Given the description of an element on the screen output the (x, y) to click on. 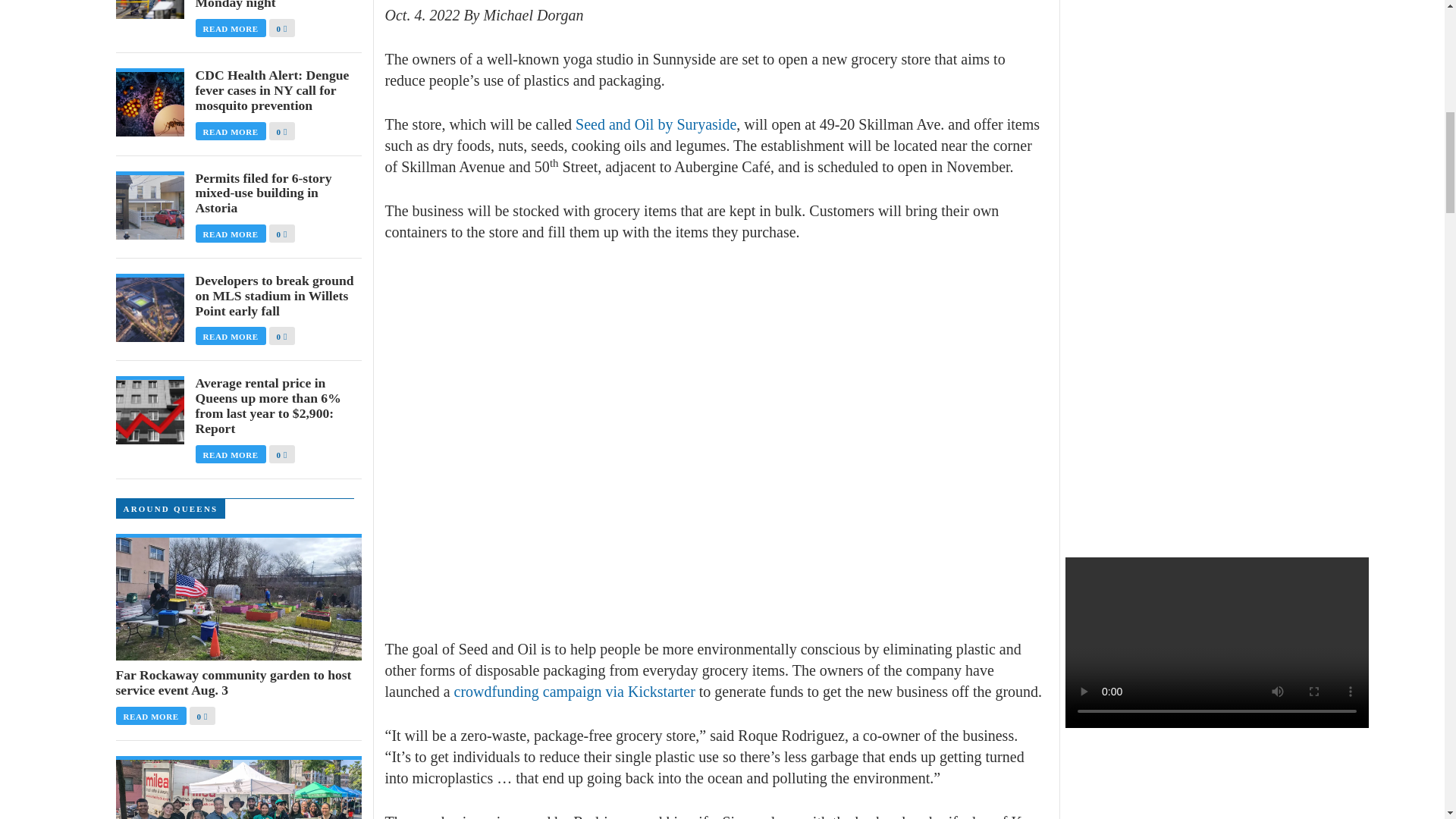
campaign via Kickstarter (619, 691)
Seed and Oil by Suryaside (655, 124)
crowdfunding (498, 691)
